Given the description of an element on the screen output the (x, y) to click on. 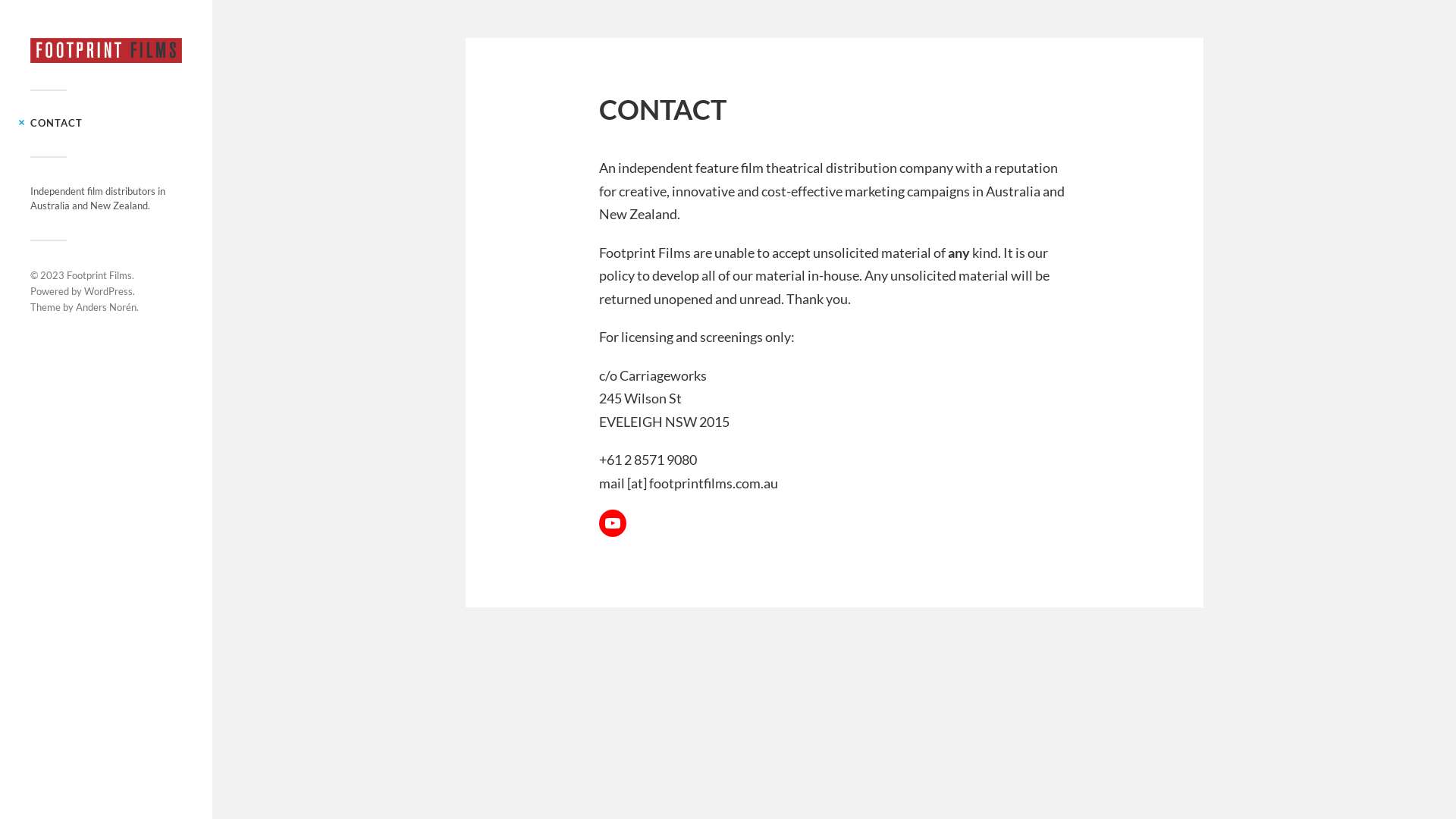
CONTACT Element type: text (56, 122)
Footprint Films Element type: text (98, 275)
WordPress Element type: text (108, 291)
